Given the description of an element on the screen output the (x, y) to click on. 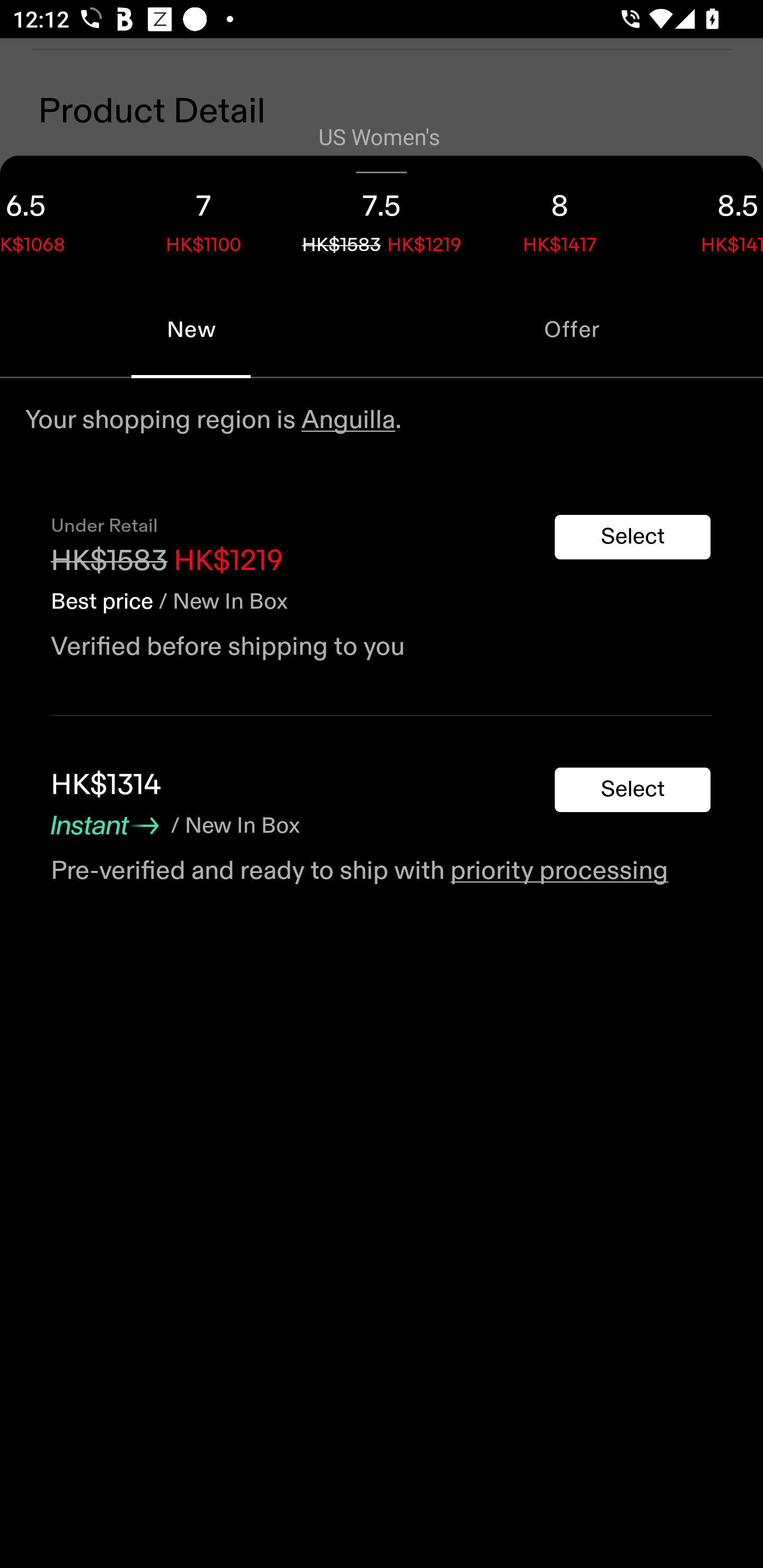
6.5 HK$1068 (57, 218)
7 HK$1100 (203, 218)
7.5 HK$1583 HK$1219 (381, 218)
8 HK$1417 (559, 218)
8.5 HK$1417 (705, 218)
Offer (572, 329)
Select (632, 536)
HK$1314 (105, 785)
Select (632, 789)
